Given the description of an element on the screen output the (x, y) to click on. 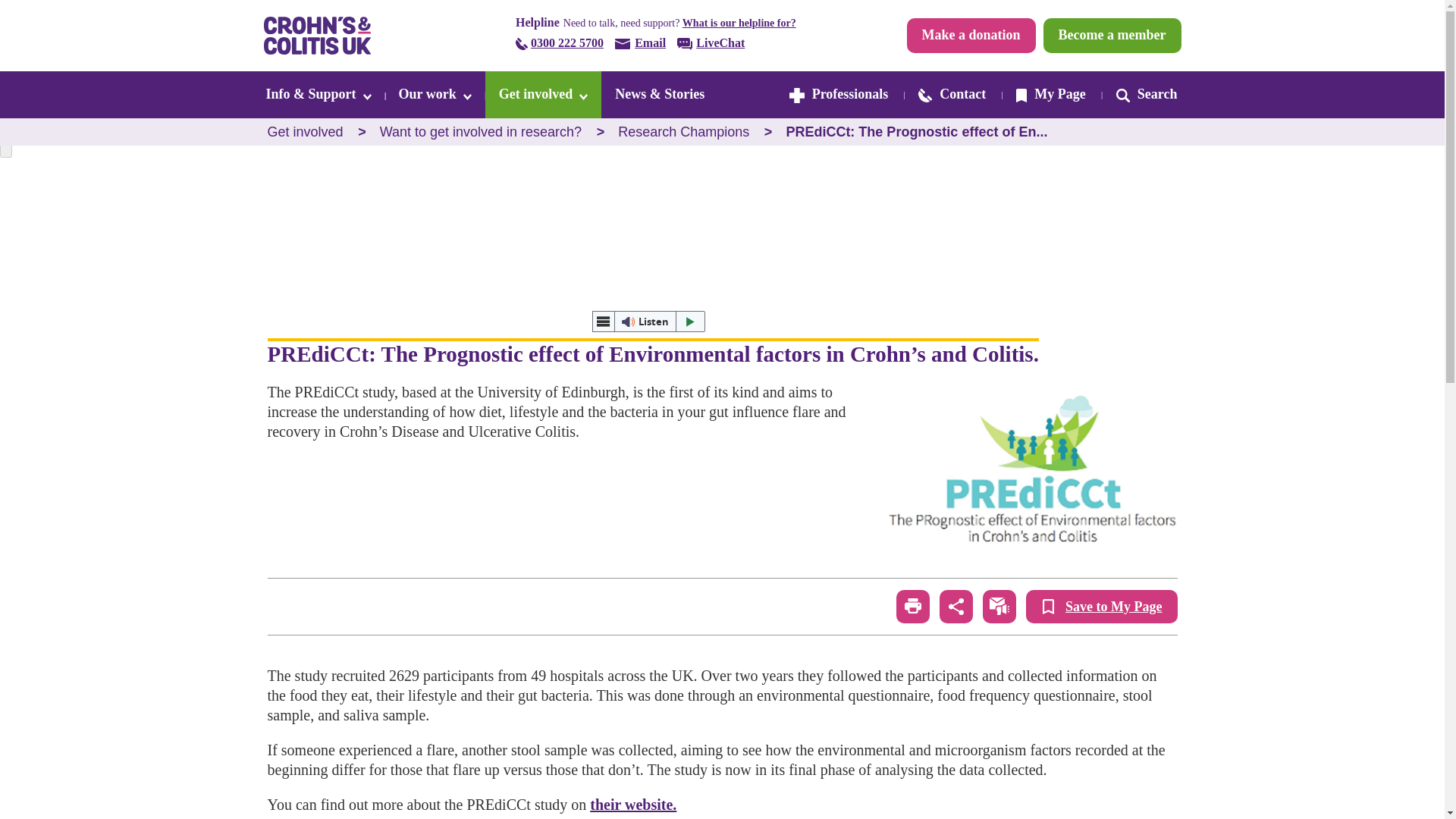
webReader menu (602, 321)
Get involved (543, 94)
What is our helpline for? (739, 22)
Email (639, 44)
0300 222 5700 (559, 44)
Save to My Page (1101, 606)
Make a donation (971, 35)
LiveChat (710, 44)
Share (955, 606)
Listen to this page using ReadSpeaker webReader (647, 321)
Subscribe (999, 606)
Become a member (1111, 35)
Our work (434, 94)
Print (913, 606)
